Given the description of an element on the screen output the (x, y) to click on. 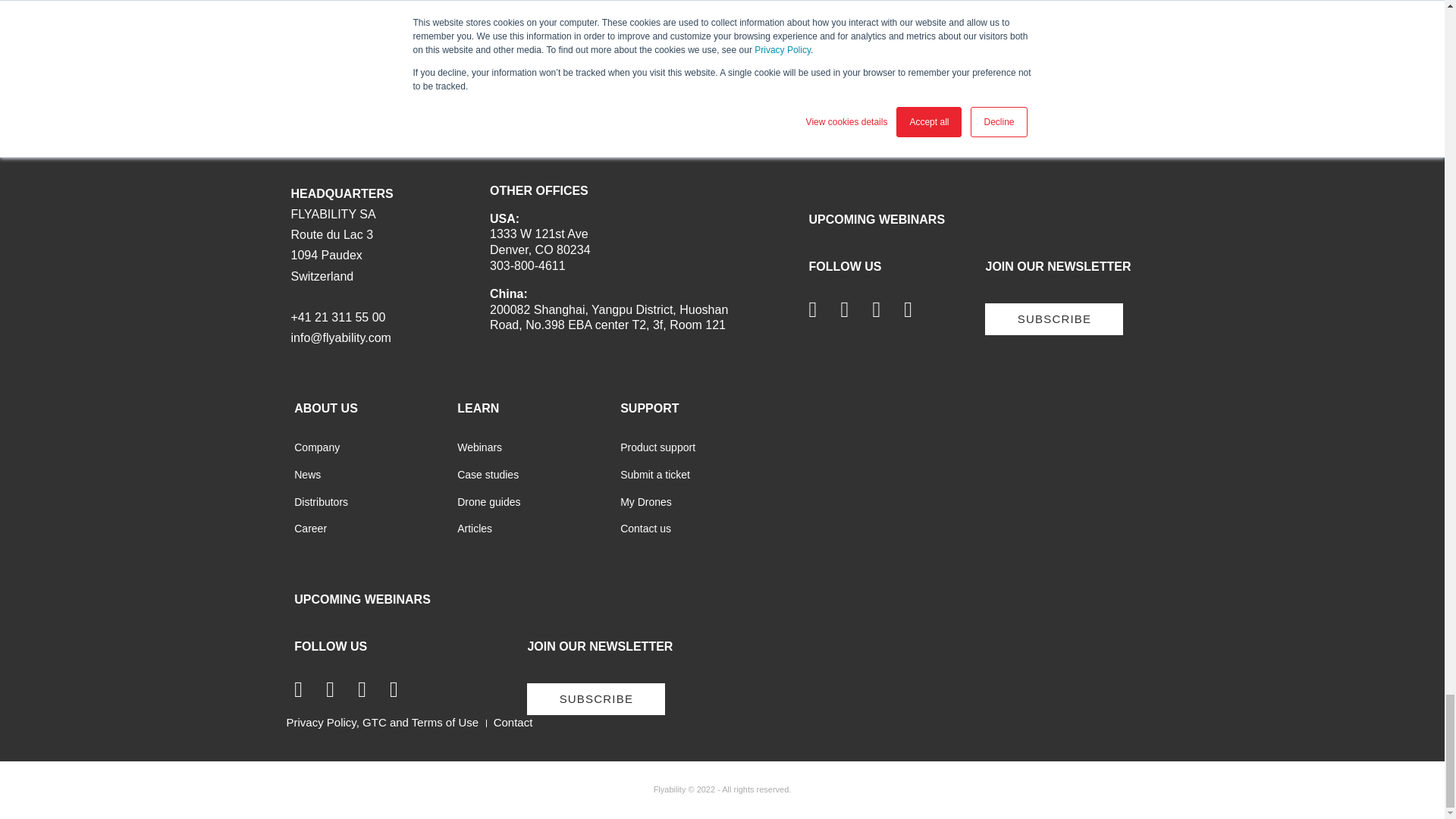
Subscribe (1053, 318)
Subscribe (596, 698)
